Given the description of an element on the screen output the (x, y) to click on. 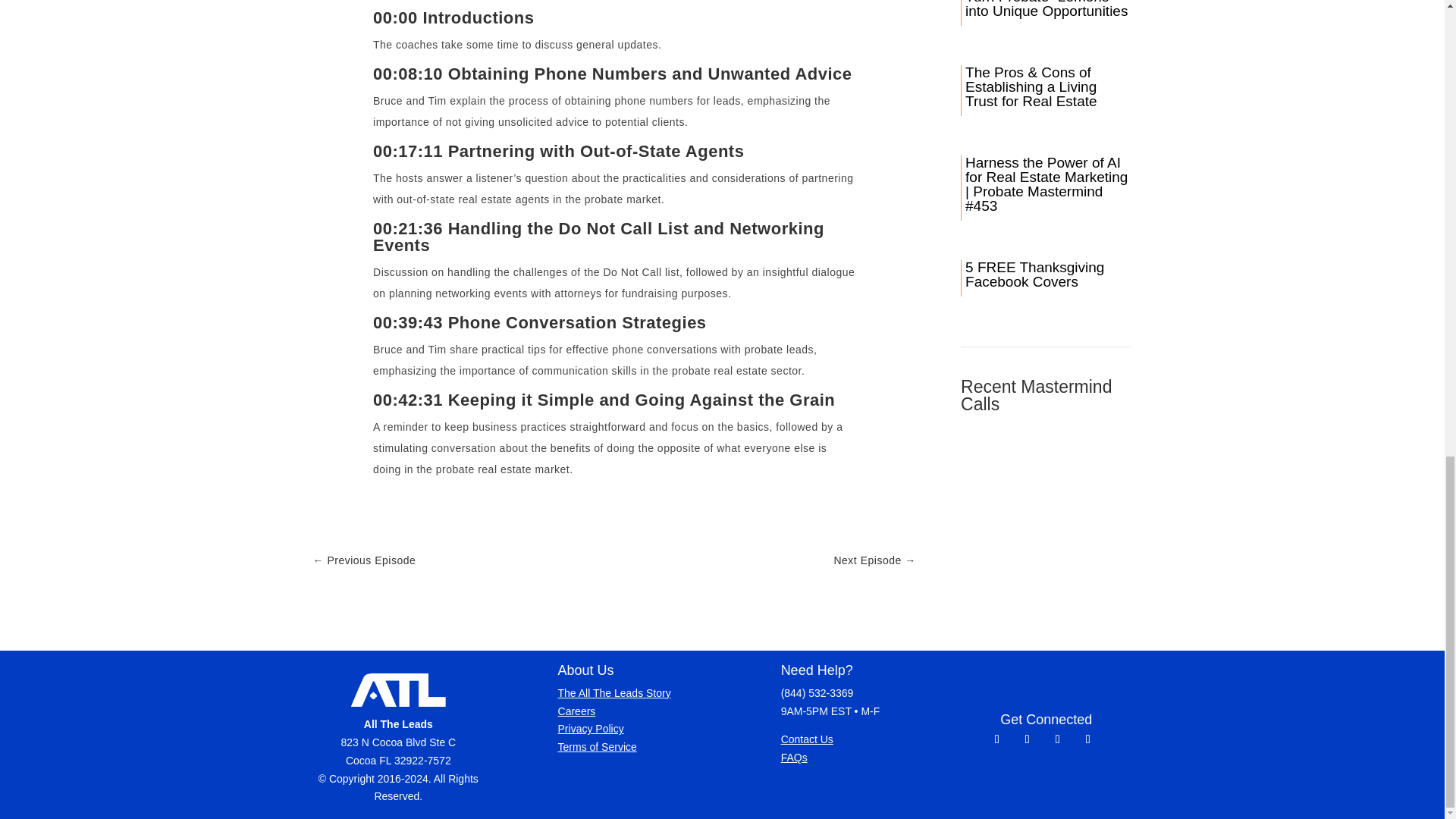
Follow on Instagram (1087, 739)
Follow on LinkedIn (1057, 739)
Follow on Youtube (1026, 739)
Follow on Facebook (997, 739)
footer-logo (397, 689)
